Given the description of an element on the screen output the (x, y) to click on. 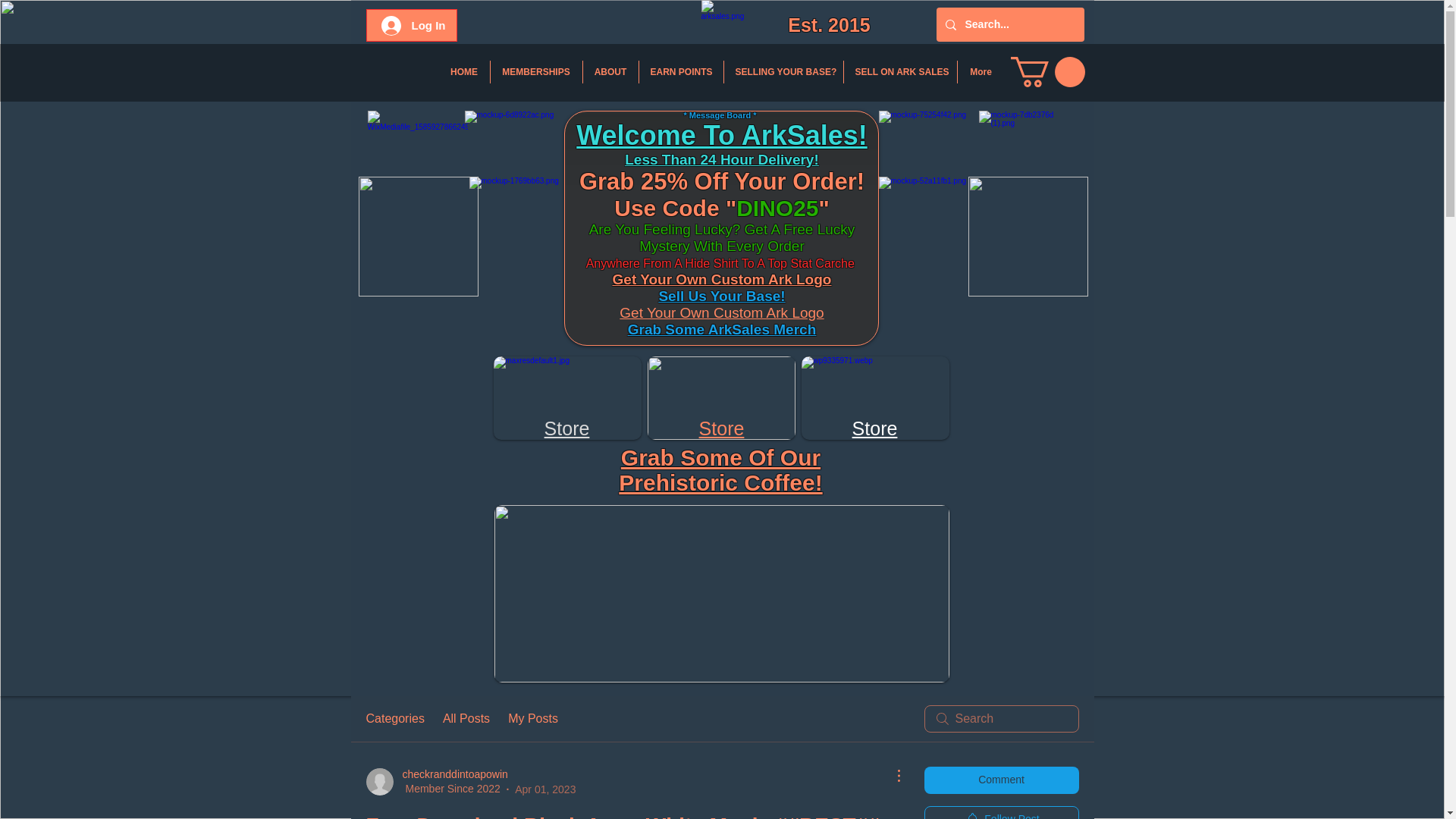
EARN POINTS (680, 71)
SELL ON ARK SALES (899, 71)
MEMBERSHIPS (534, 71)
wop7hg2ozh471.png (566, 397)
Get Your Own Custom Ark Logo (722, 312)
Grab Some Of Our Prehistoric Coffee! (720, 470)
Store (566, 427)
wop7hg2ozh471.png (720, 397)
SELLING YOUR BASE? (783, 71)
Log In (412, 24)
Sell Us Your Base! (721, 295)
Store (874, 427)
ABOUT (609, 71)
Get Your Own Custom Ark L (708, 279)
